Given the description of an element on the screen output the (x, y) to click on. 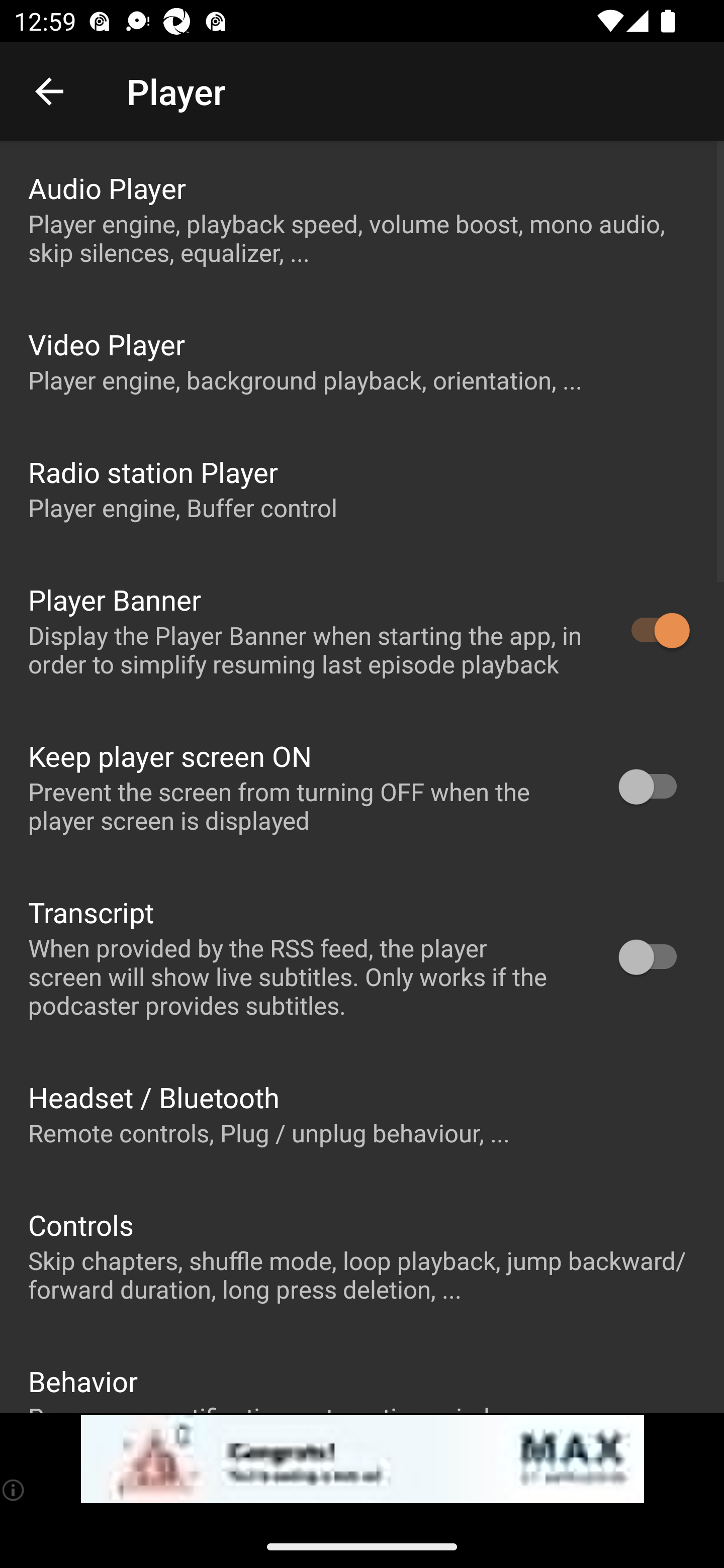
Navigate up (49, 91)
Radio station Player Player engine, Buffer control (362, 487)
app-monetization (362, 1459)
(i) (14, 1489)
